Given the description of an element on the screen output the (x, y) to click on. 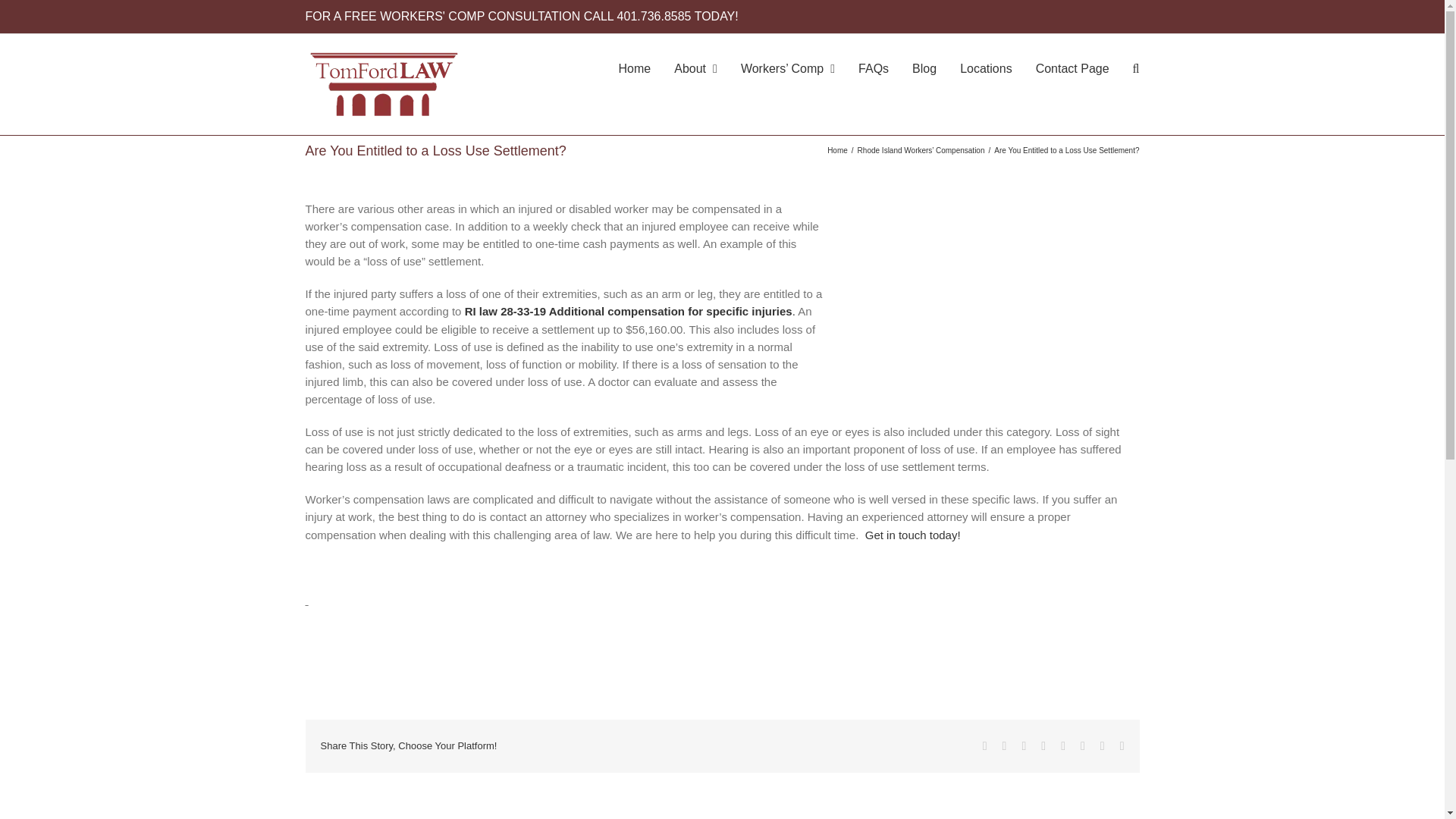
Get in touch today! (912, 533)
Home (837, 150)
Contact Page (1072, 66)
